Given the description of an element on the screen output the (x, y) to click on. 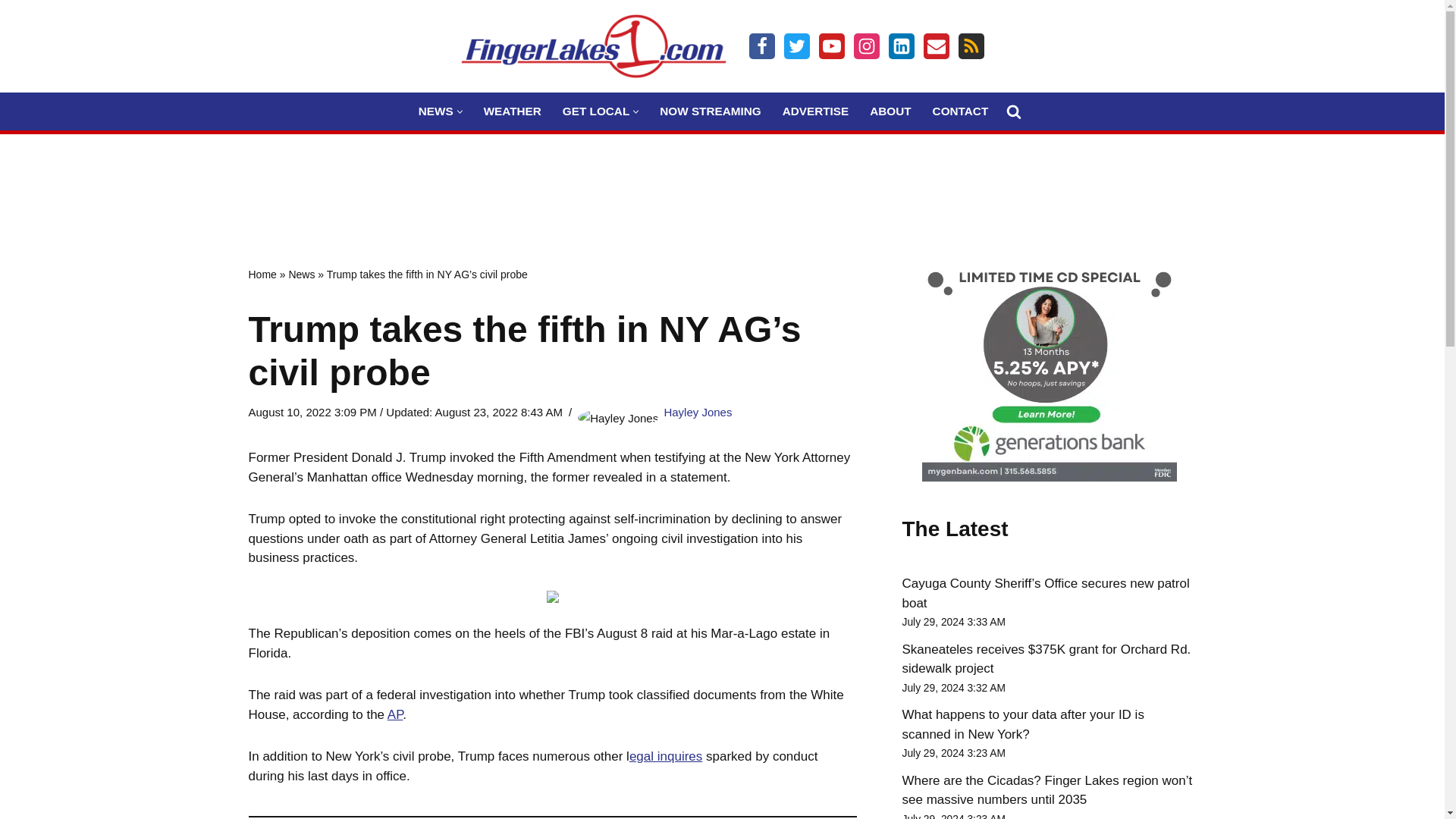
Posts by Hayley Jones (697, 411)
Feed (971, 45)
Skip to content (11, 31)
Instagram (866, 45)
ADVERTISE (815, 111)
GET LOCAL (595, 111)
ABOUT (890, 111)
NOW STREAMING (709, 111)
LinkIn (901, 45)
Facebook (761, 45)
Email Us (936, 45)
Twitter (796, 45)
CONTACT (960, 111)
NEWS (435, 111)
WEATHER (512, 111)
